Given the description of an element on the screen output the (x, y) to click on. 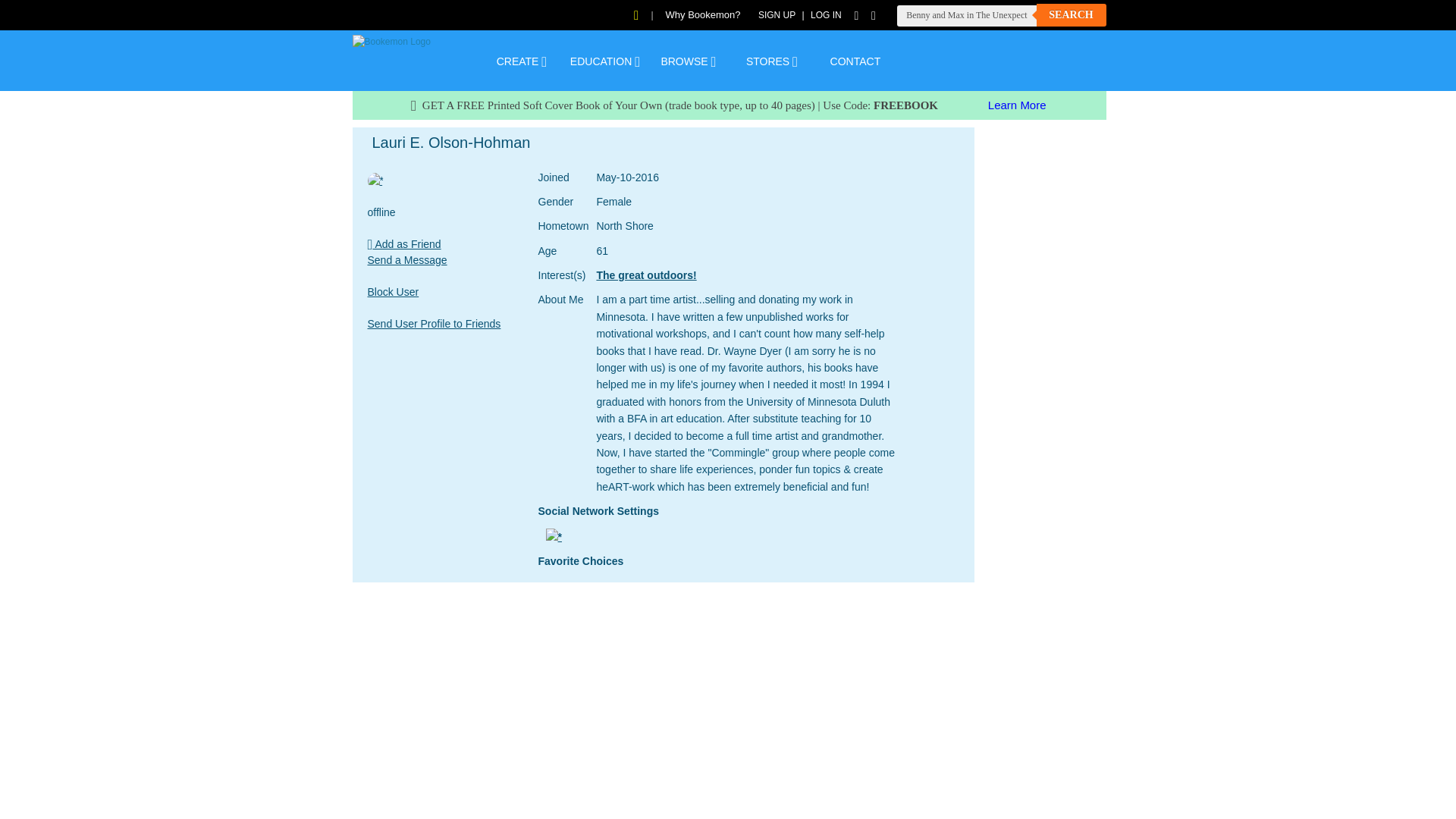
Why Bookemon? (703, 14)
Block User (392, 289)
Send User Profile to Friends (433, 322)
Learn More (1017, 104)
SEARCH (1070, 15)
SIGN UP (776, 14)
Add as Friend (403, 244)
Send a Message (406, 259)
The great outdoors! (645, 275)
Benny and Max in The Unexpected Visitor (966, 14)
LOG IN (825, 14)
